Given the description of an element on the screen output the (x, y) to click on. 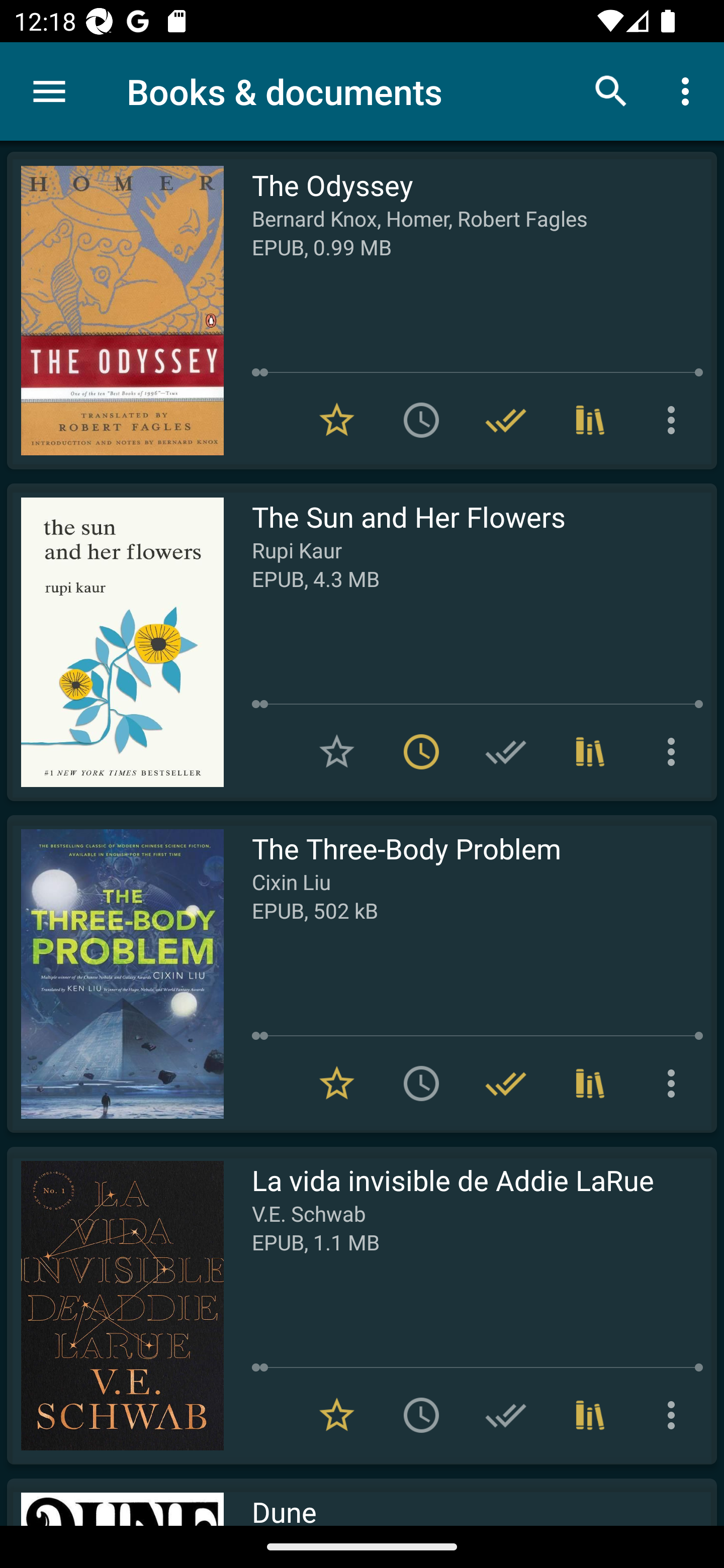
Menu (49, 91)
Search books & documents (611, 90)
More options (688, 90)
Read The Odyssey (115, 310)
Remove from Favorites (336, 419)
Add to To read (421, 419)
Remove from Have read (505, 419)
Collections (2) (590, 419)
More options (674, 419)
Read The Sun and Her Flowers (115, 641)
Add to Favorites (336, 751)
Remove from To read (421, 751)
Add to Have read (505, 751)
Collections (1) (590, 751)
More options (674, 751)
Read The Three-Body Problem (115, 973)
Remove from Favorites (336, 1083)
Add to To read (421, 1083)
Remove from Have read (505, 1083)
Collections (1) (590, 1083)
More options (674, 1083)
Read La vida invisible de Addie LaRue (115, 1305)
Remove from Favorites (336, 1414)
Add to To read (421, 1414)
Add to Have read (505, 1414)
Collections (1) (590, 1414)
More options (674, 1414)
